Given the description of an element on the screen output the (x, y) to click on. 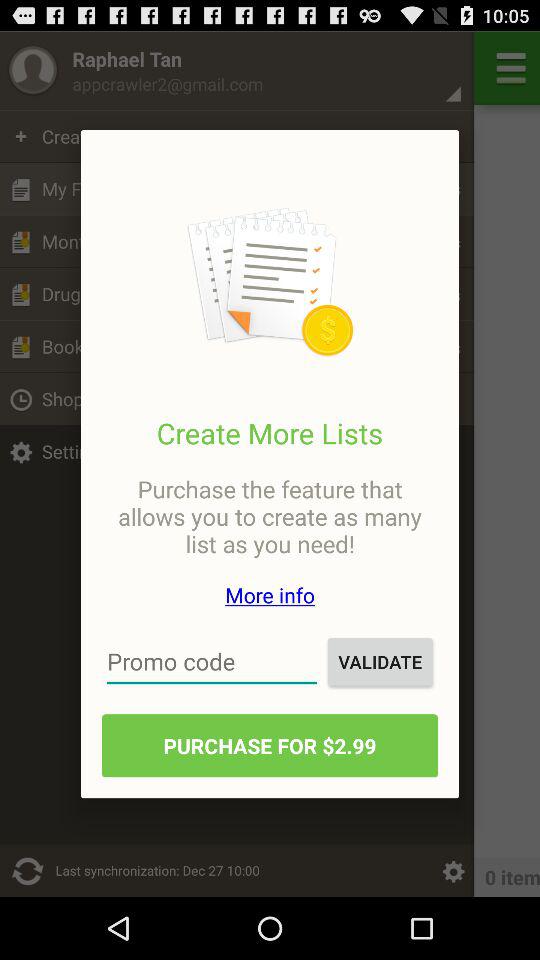
scroll until validate item (379, 661)
